Given the description of an element on the screen output the (x, y) to click on. 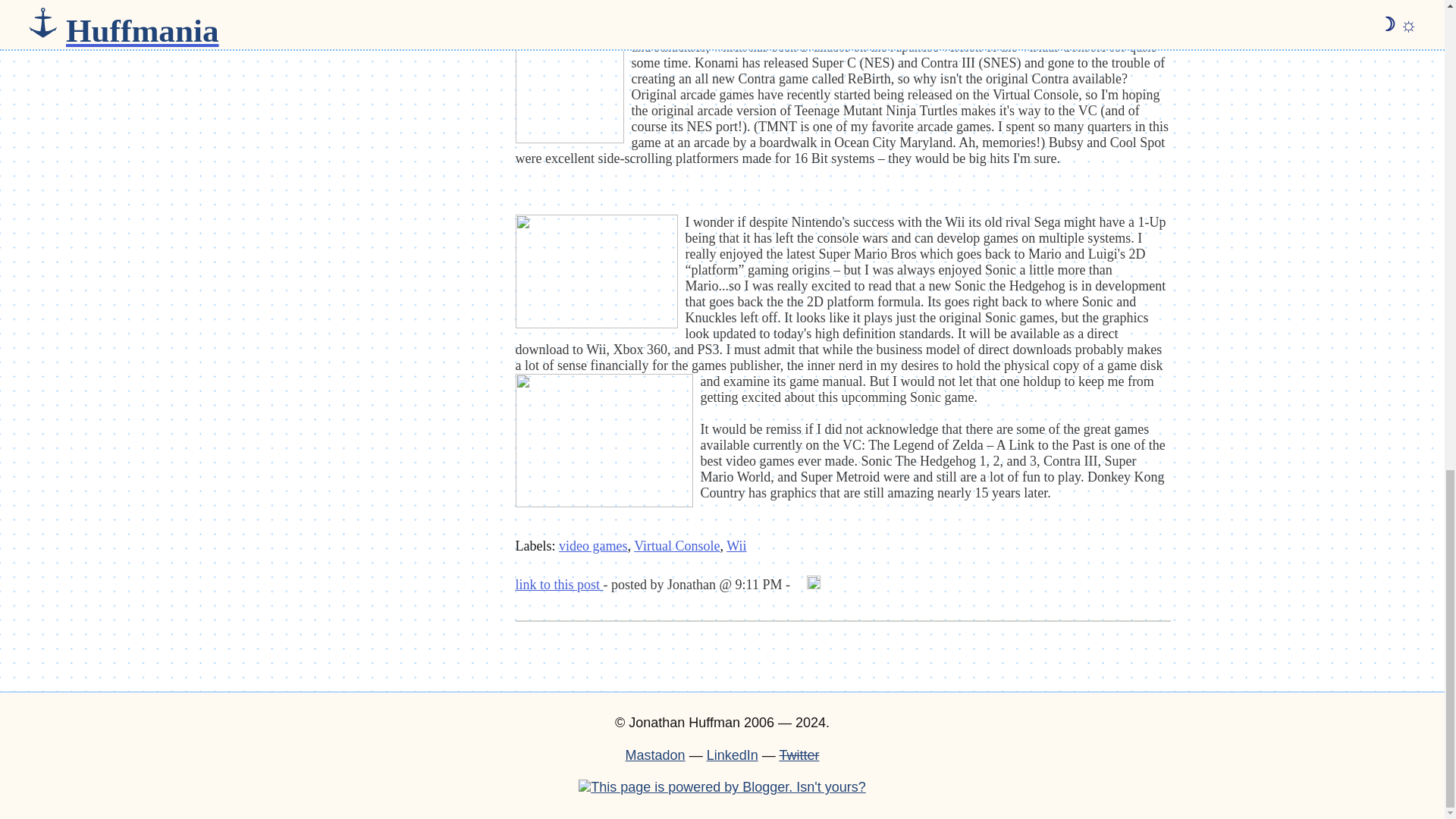
Edit Post (813, 583)
Email Post (799, 583)
permanent link (559, 583)
